Given the description of an element on the screen output the (x, y) to click on. 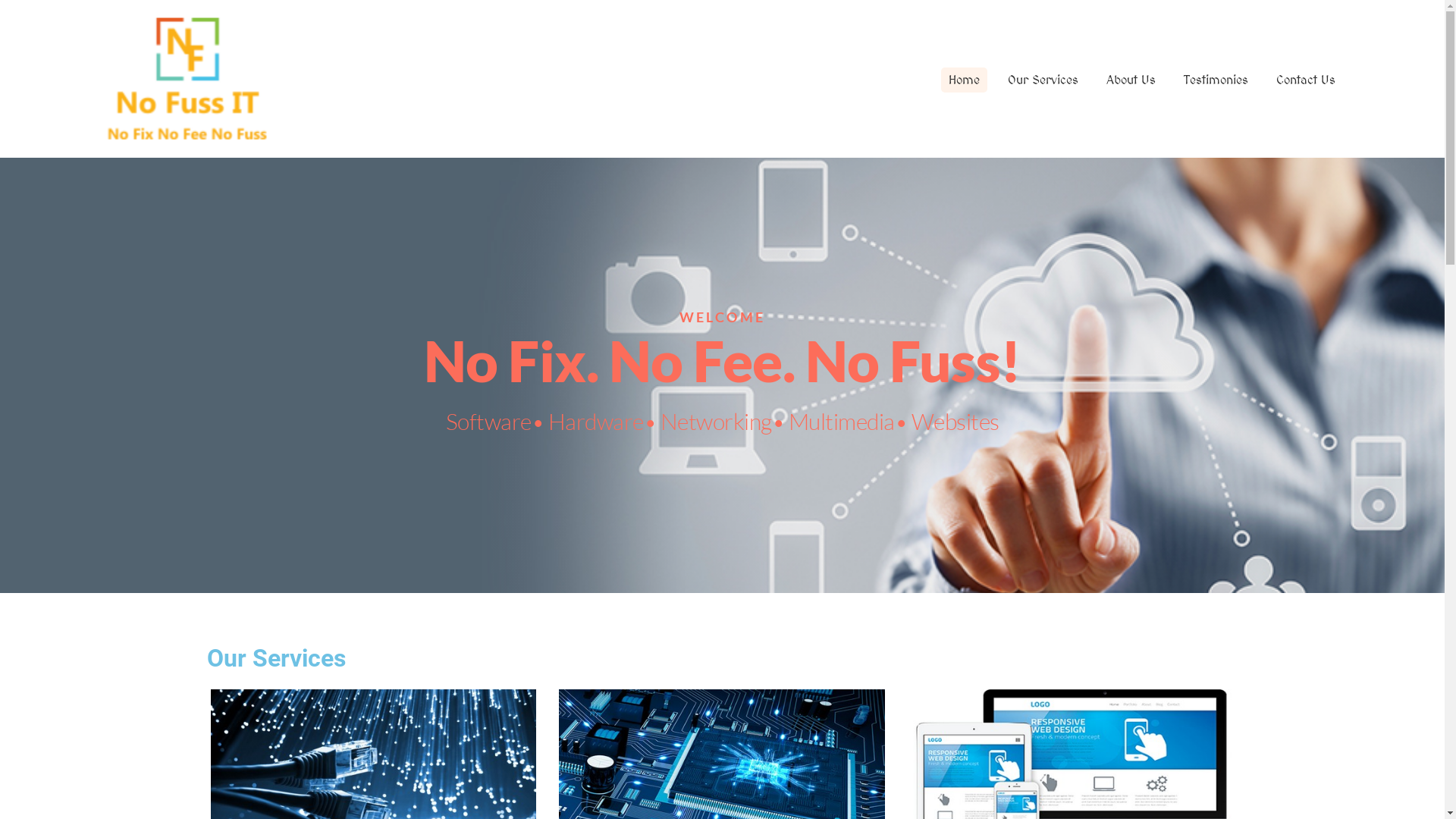
Home Element type: text (964, 79)
Testimonies Element type: text (1215, 79)
Our Services Element type: text (1042, 79)
Contact Us Element type: text (1305, 79)
About Us Element type: text (1130, 79)
